Given the description of an element on the screen output the (x, y) to click on. 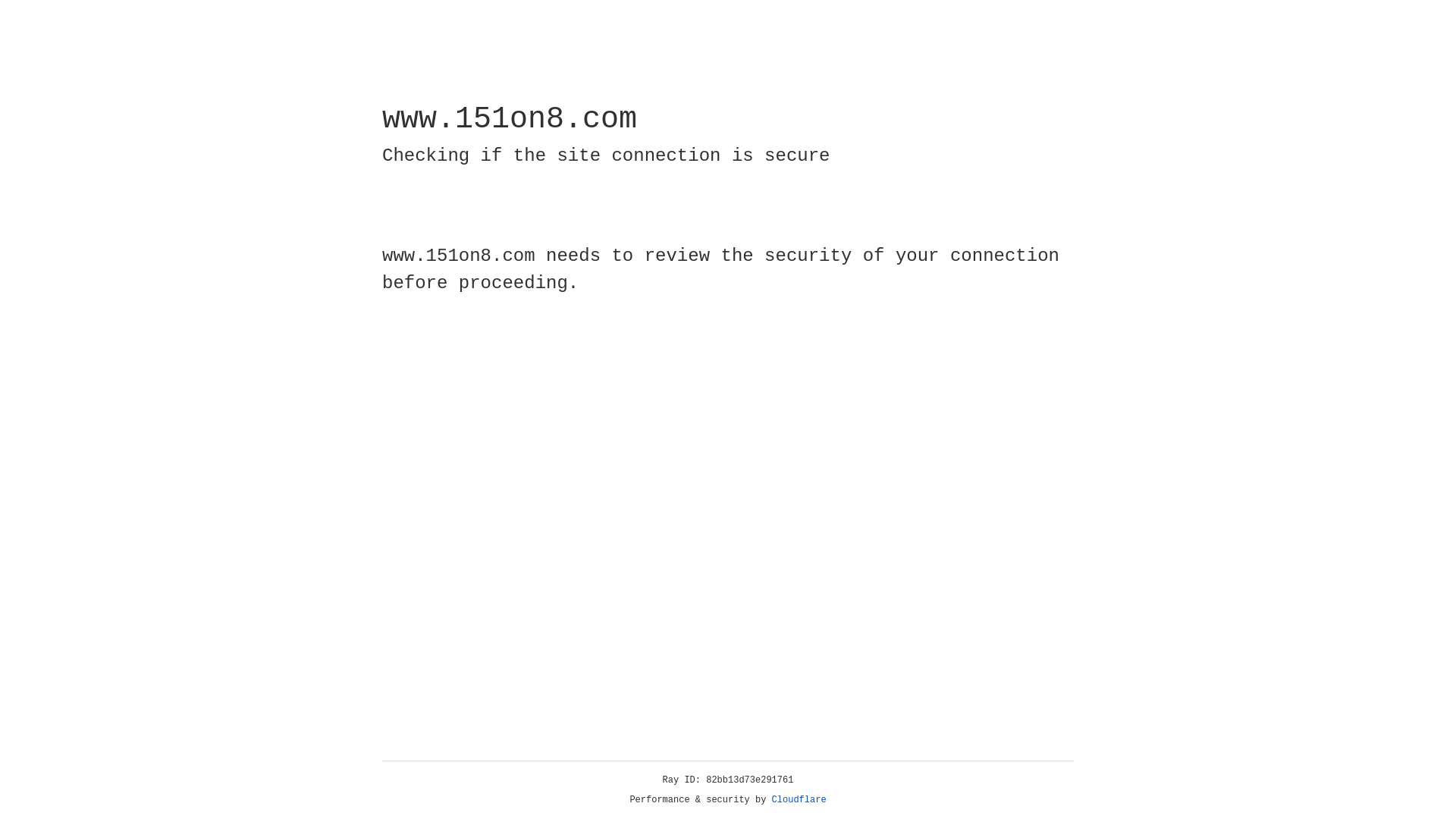
Cloudflare Element type: text (798, 799)
